Given the description of an element on the screen output the (x, y) to click on. 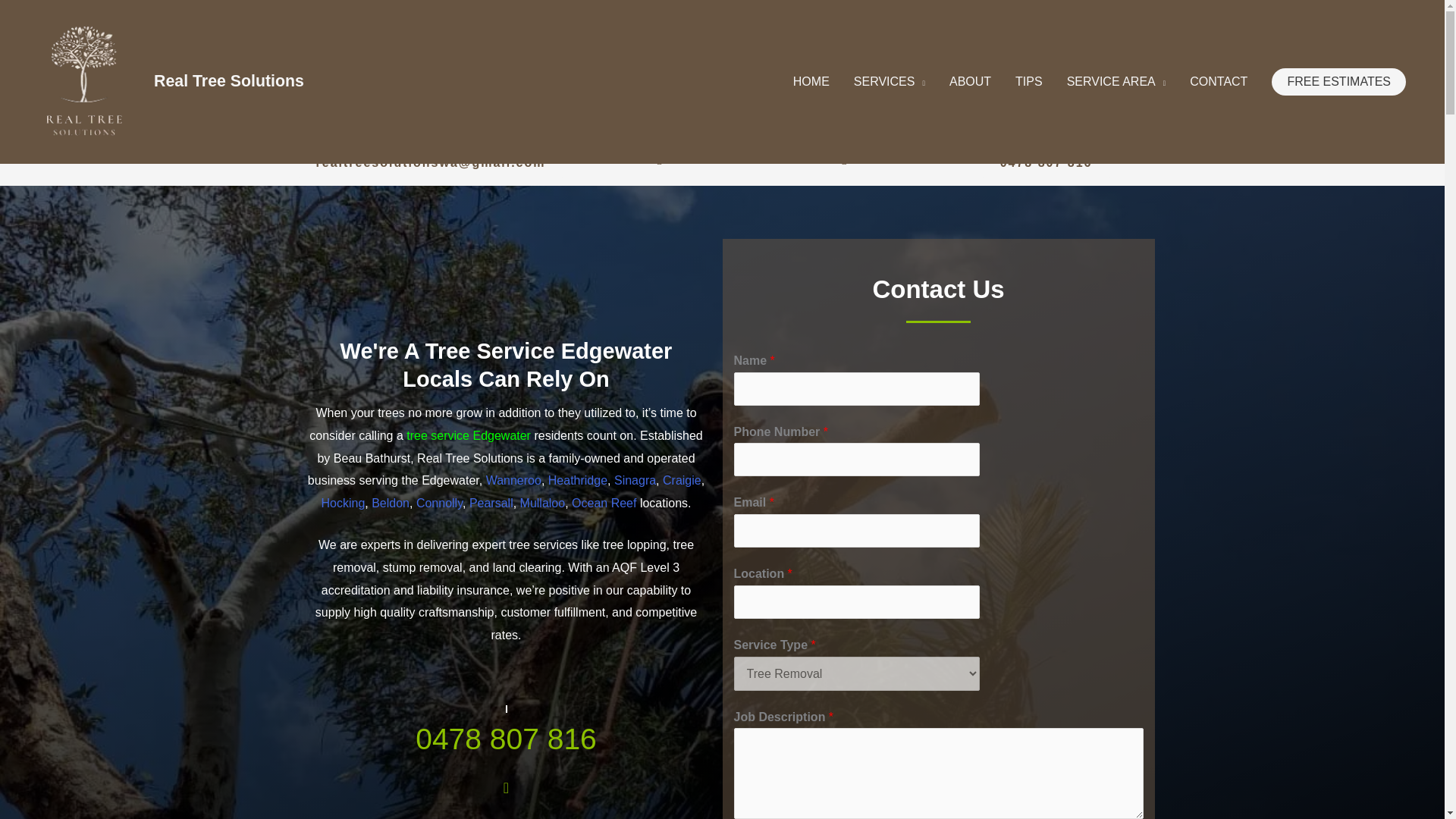
CONTACT (1218, 81)
Pearsall (490, 502)
Hocking (343, 502)
Beldon (391, 502)
Sinagra (632, 481)
tree service Edgewater (470, 437)
TIPS (1028, 81)
0478 807 816 (505, 738)
Connolly (439, 502)
ABOUT (970, 81)
